Given the description of an element on the screen output the (x, y) to click on. 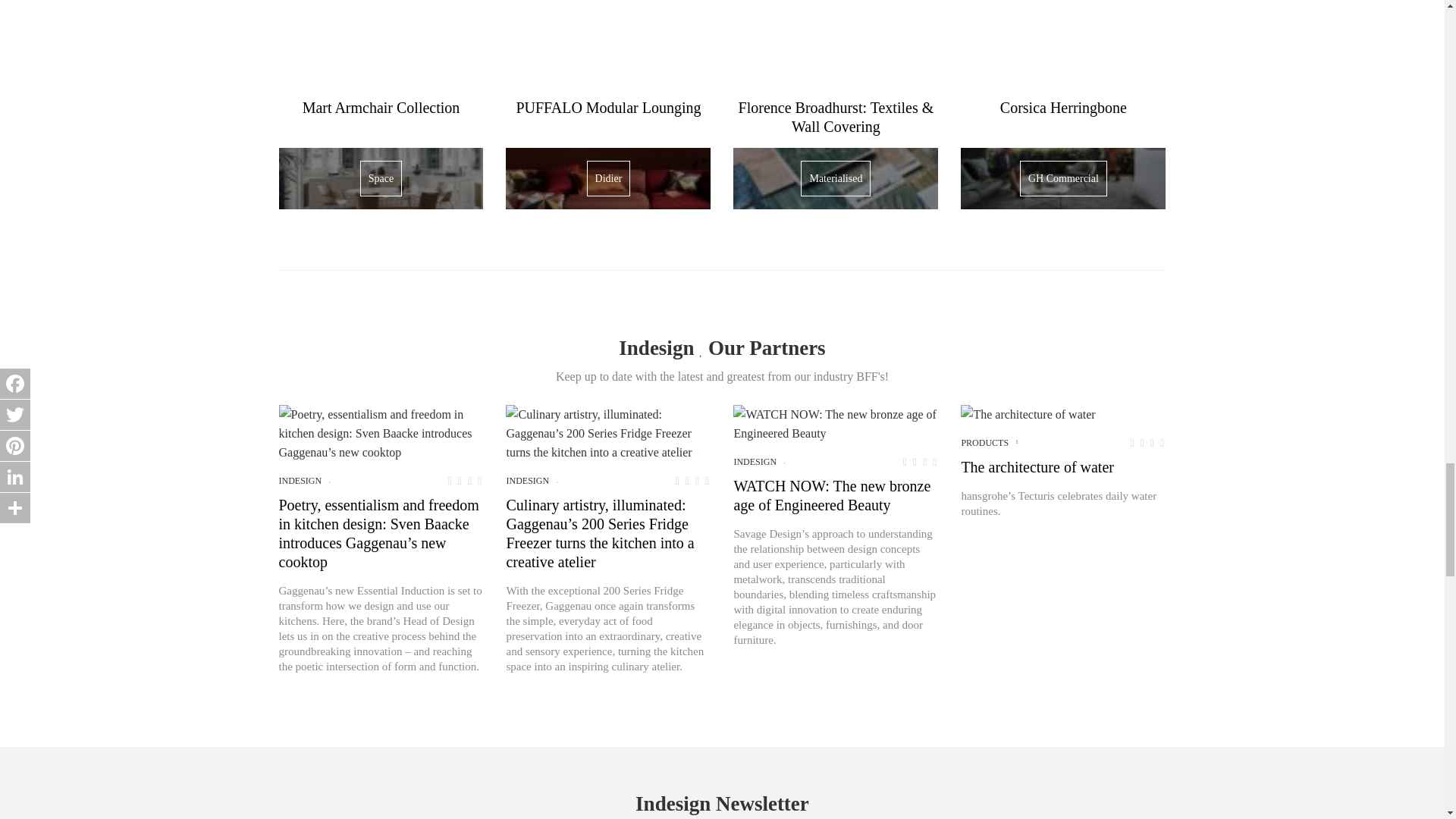
WATCH NOW: The new bronze age of Engineered Beauty (835, 423)
The architecture of water (1027, 414)
